Given the description of an element on the screen output the (x, y) to click on. 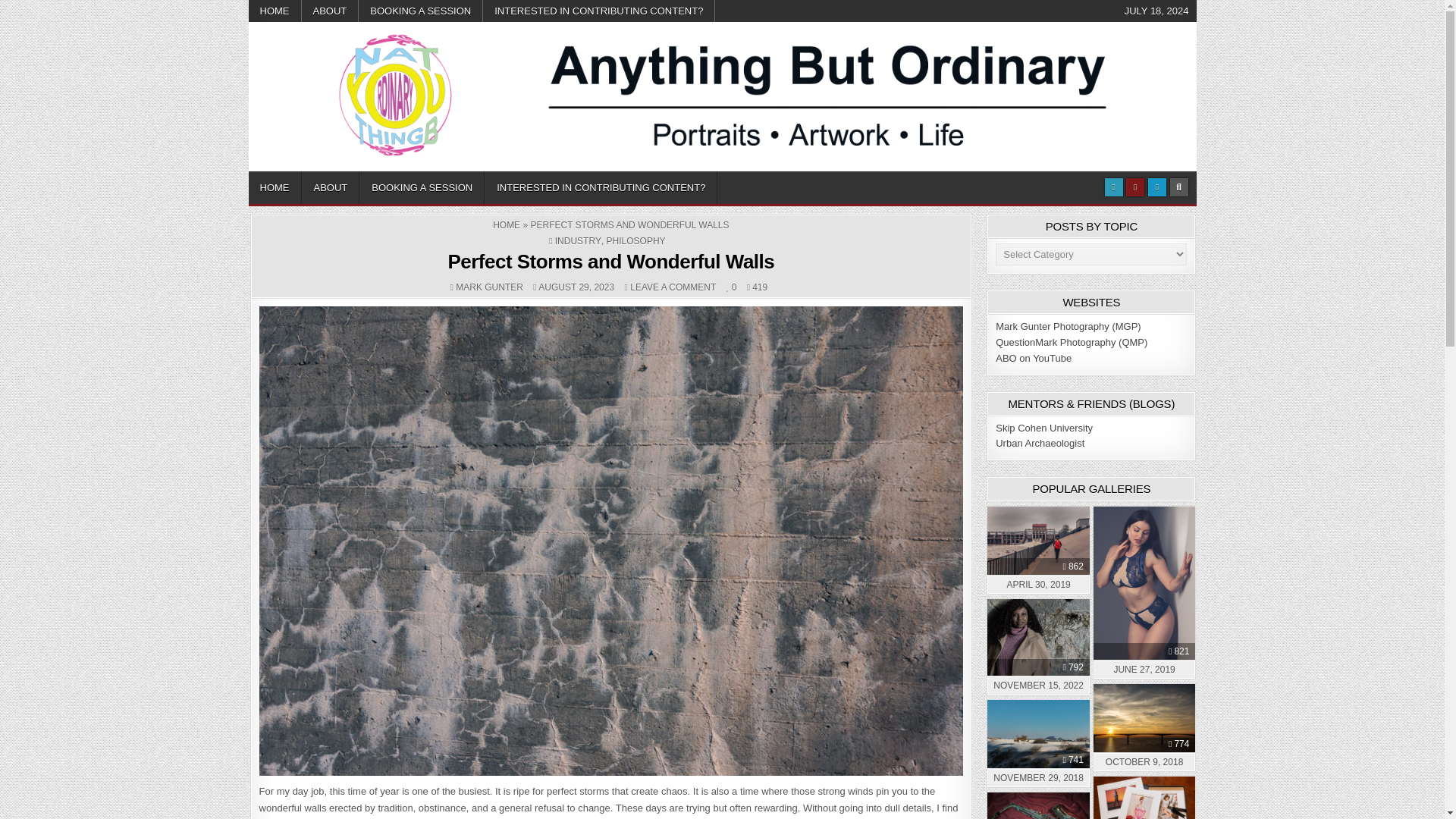
PHILOSOPHY (636, 240)
Like this (731, 286)
419 Views (756, 286)
MARK GUNTER (488, 286)
0 (731, 286)
HOME (506, 225)
ABOUT (330, 187)
INTERESTED IN CONTRIBUTING CONTENT? (600, 187)
INDUSTRY (577, 240)
BOOKING A SESSION (420, 11)
INTERESTED IN CONTRIBUTING CONTENT? (598, 11)
ABOUT (330, 11)
HOME (274, 11)
BOOKING A SESSION (421, 187)
Perfect Storms and Wonderful Walls (610, 261)
